Given the description of an element on the screen output the (x, y) to click on. 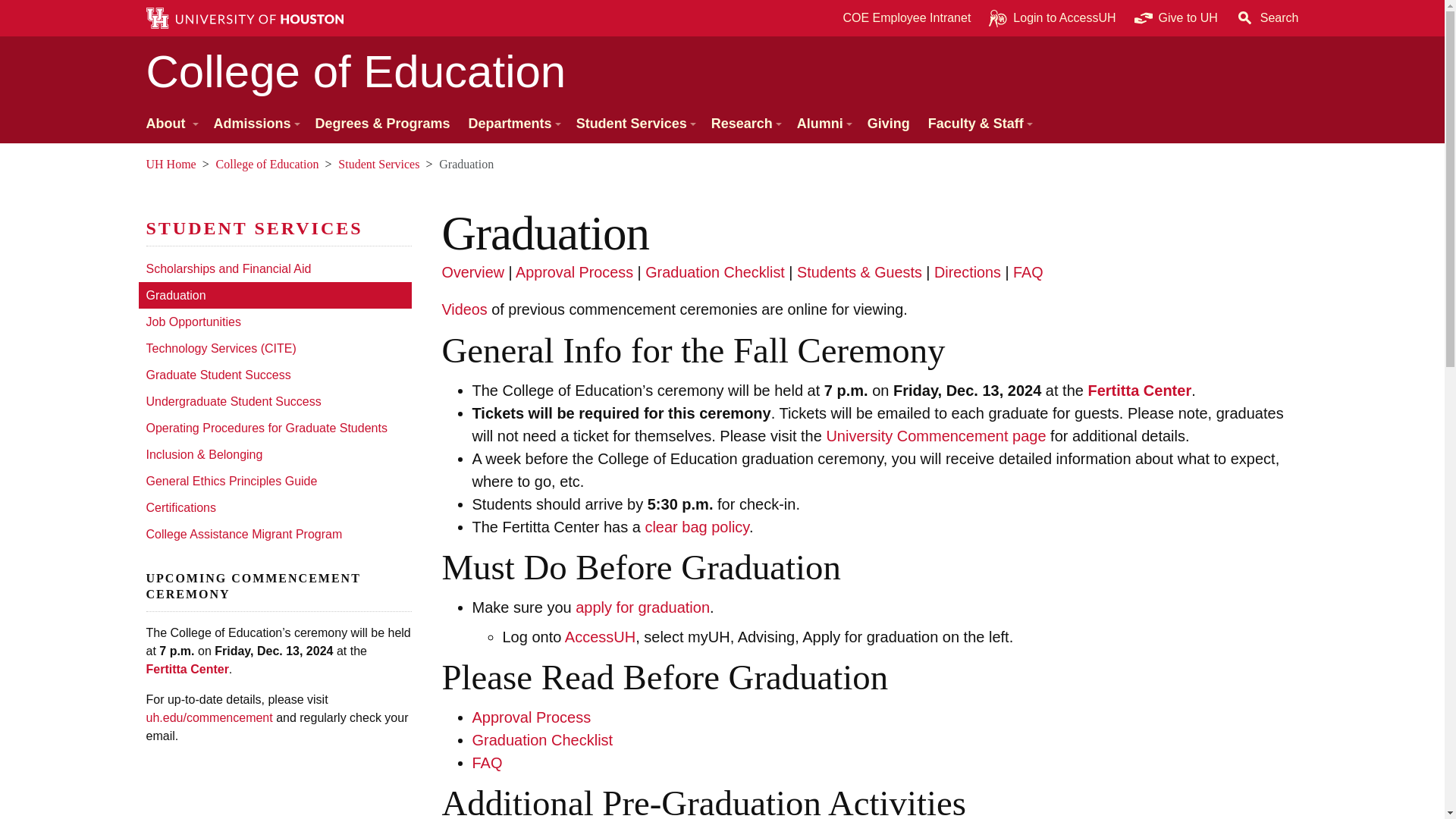
Give to UH (1176, 18)
University of Houston (151, 717)
Graduate Student Success (274, 374)
Search (1267, 18)
Student Services (634, 123)
Undergraduate Student Success (274, 401)
Graduation (274, 294)
Students and Guests (858, 271)
Graduation (472, 271)
Aproval Process (574, 271)
COE Employee Intranet (905, 18)
About (169, 123)
Admissions (254, 123)
Job Opportunities (274, 321)
Student Services (253, 228)
